Given the description of an element on the screen output the (x, y) to click on. 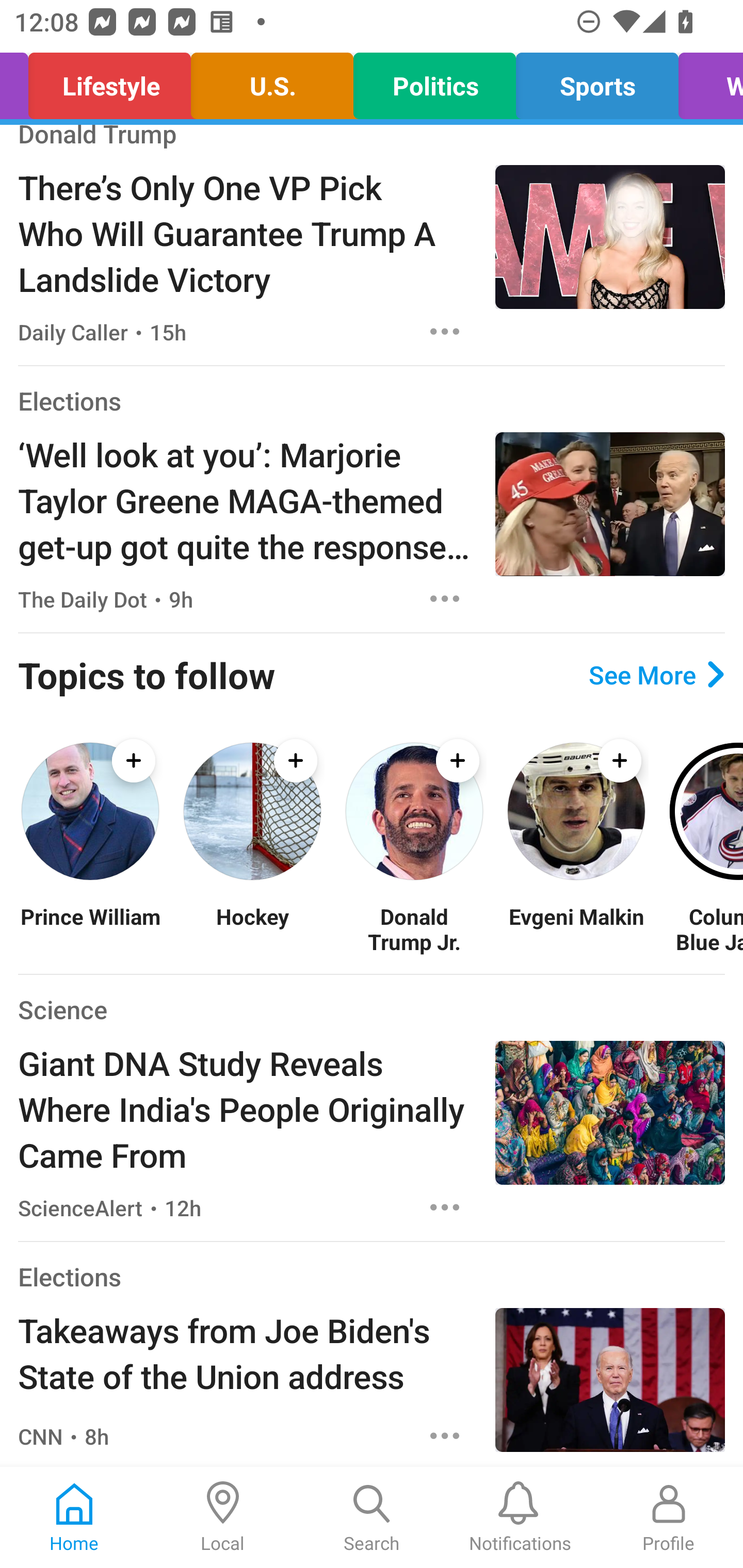
Lifestyle (109, 81)
U.S. (271, 81)
Politics (434, 81)
Sports (597, 81)
Donald Trump (97, 137)
Options (444, 331)
Elections (69, 400)
Options (444, 598)
See More (656, 673)
Prince William (89, 928)
Hockey (251, 928)
Donald Trump Jr. (413, 928)
Evgeni Malkin (575, 928)
Science (61, 1009)
Options (444, 1207)
Elections (69, 1276)
Options (444, 1436)
Local (222, 1517)
Search (371, 1517)
Notifications (519, 1517)
Profile (668, 1517)
